Given the description of an element on the screen output the (x, y) to click on. 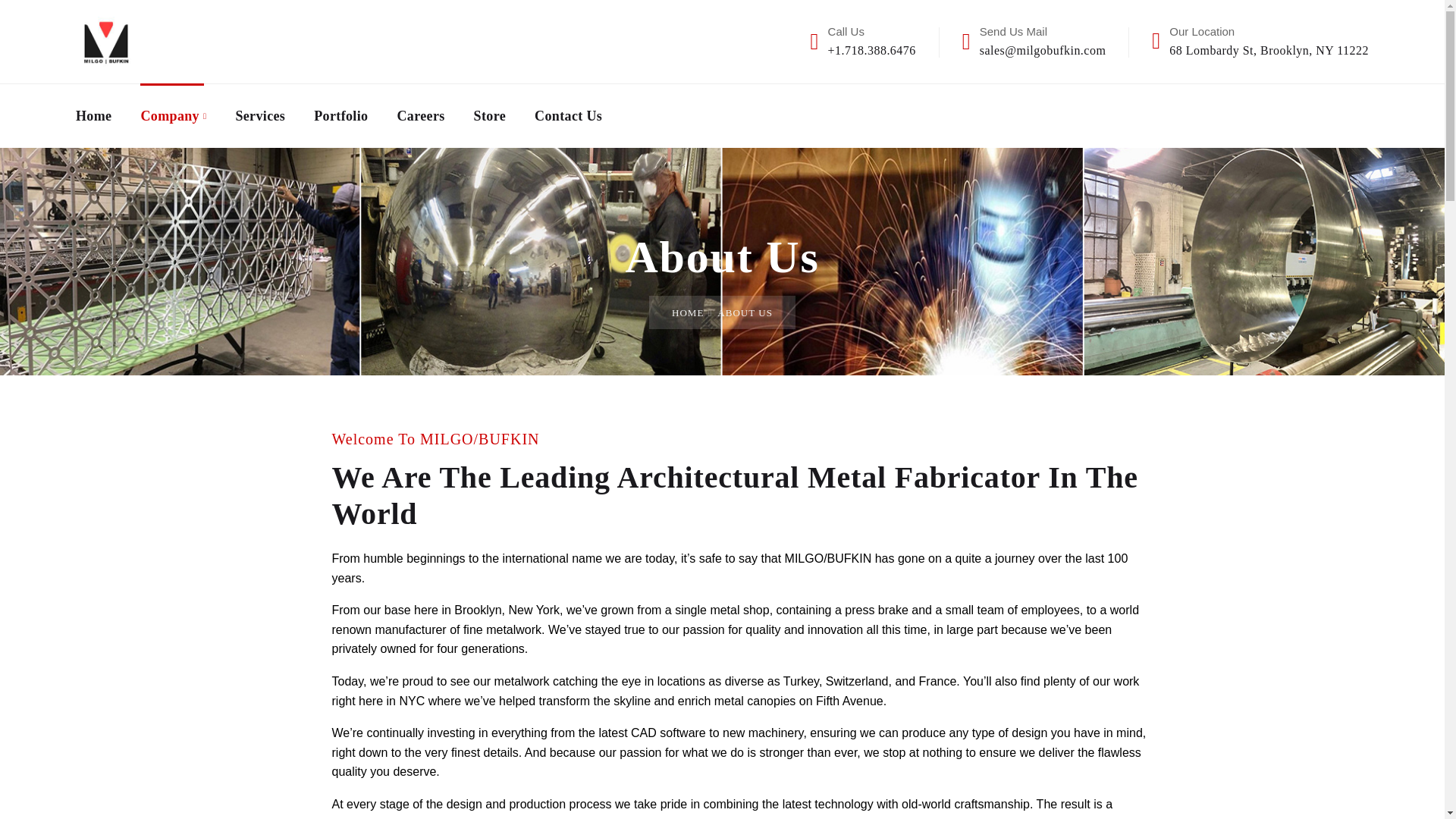
Contact Us (568, 116)
68 Lombardy St, Brooklyn, NY 11222 (1268, 50)
HOME (687, 313)
Company (172, 116)
